Given the description of an element on the screen output the (x, y) to click on. 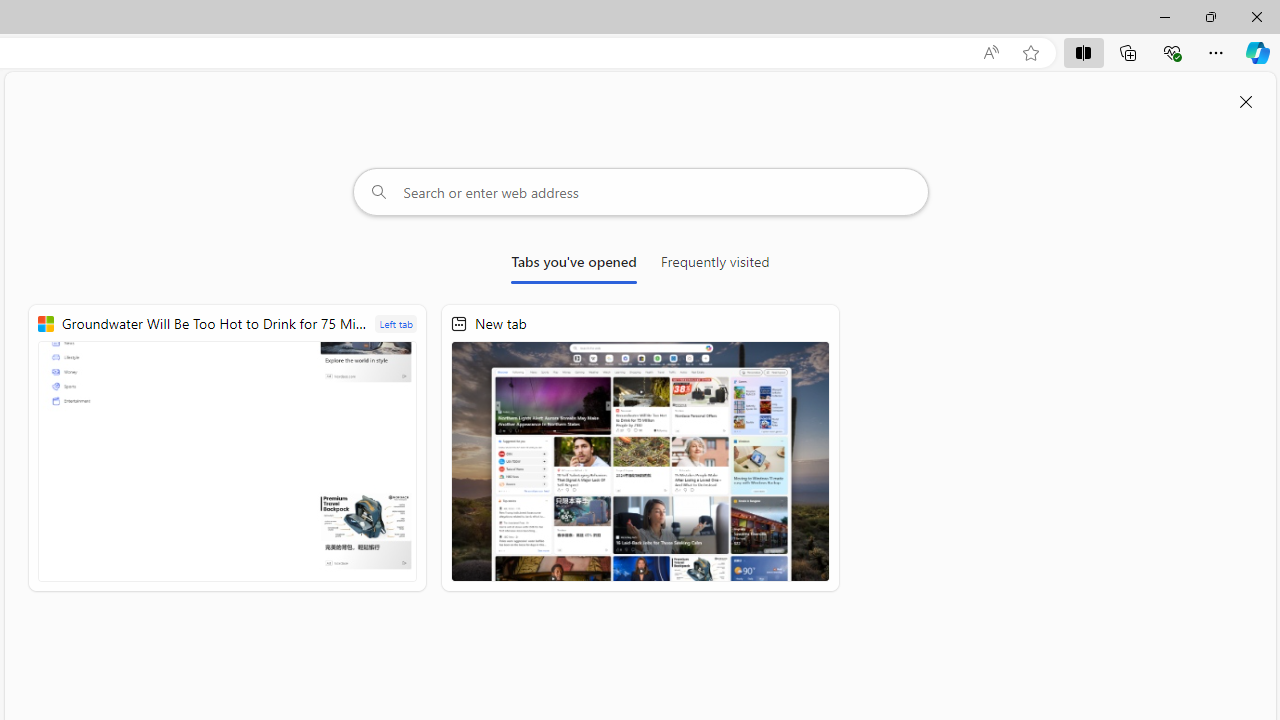
Tabs you've opened (573, 265)
Search or enter web address (640, 191)
Frequently visited (715, 265)
